Given the description of an element on the screen output the (x, y) to click on. 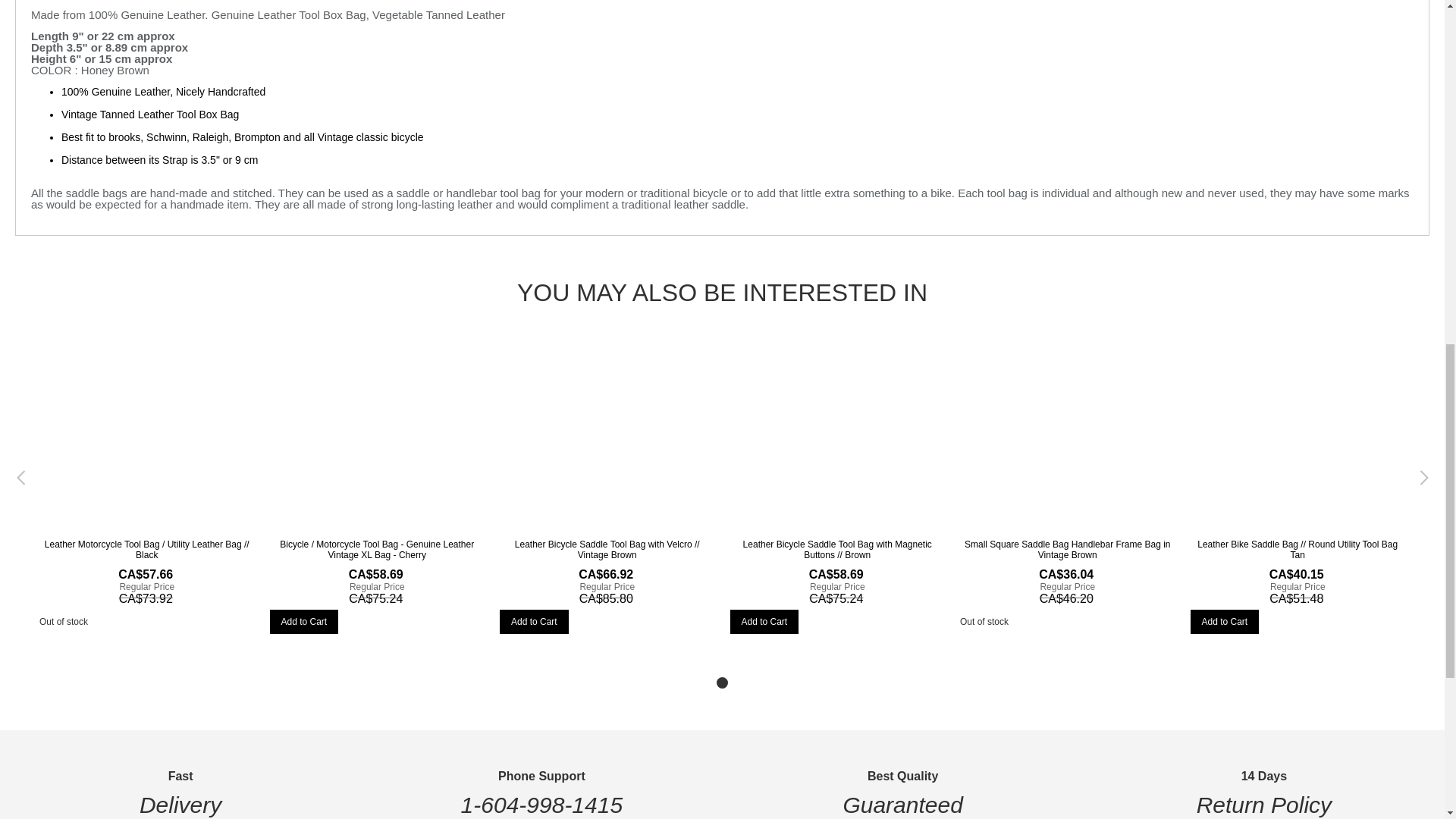
Add to Cart (534, 621)
Add to Cart (763, 621)
Add to Cart (304, 621)
Small Square Saddle Bag Handlebar Frame Bag in Vintage Brown (1066, 548)
Add to Cart (1225, 621)
